Given the description of an element on the screen output the (x, y) to click on. 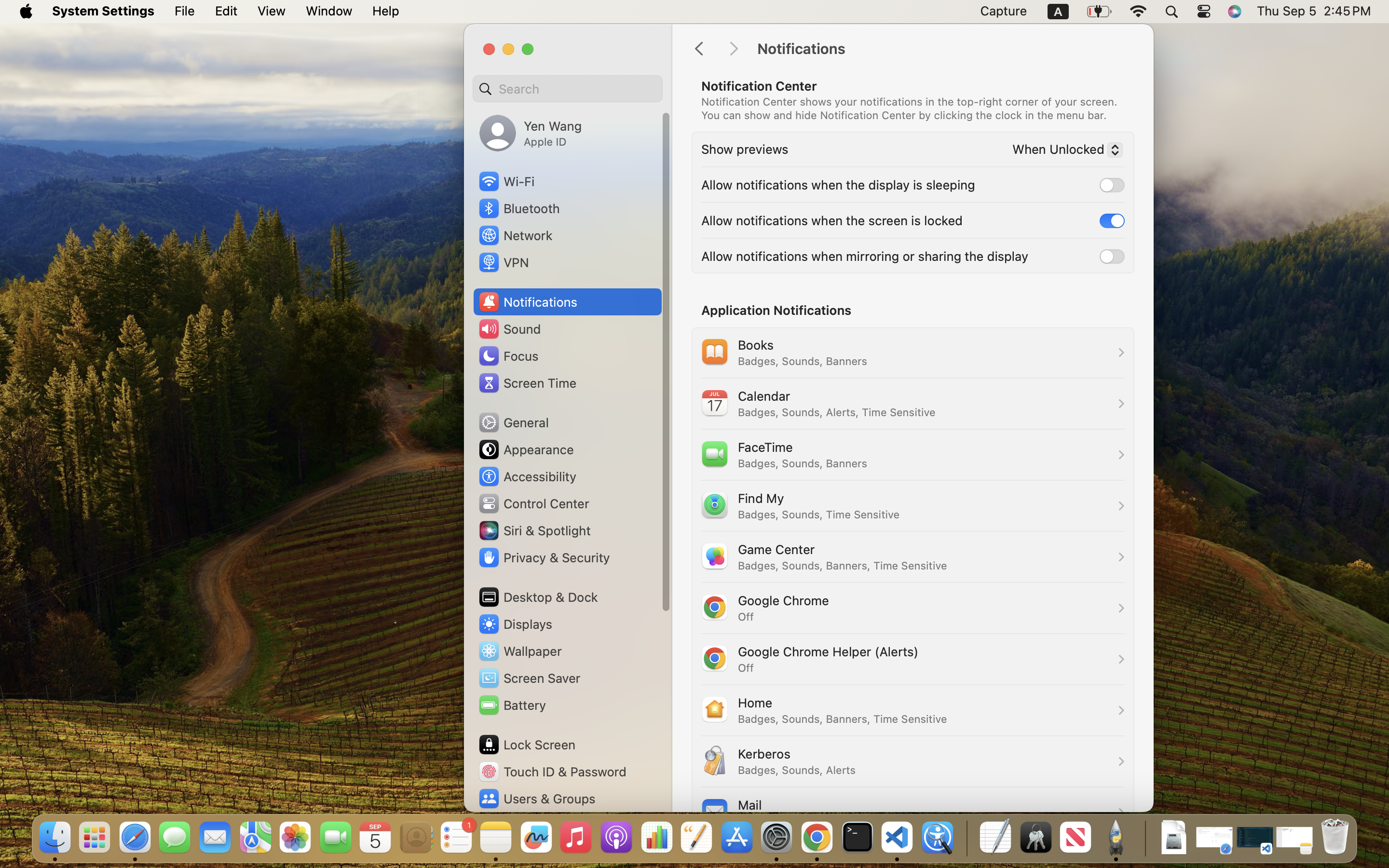
Users & Groups Element type: AXStaticText (536, 798)
Sound Element type: AXStaticText (509, 328)
Desktop & Dock Element type: AXStaticText (537, 596)
Lock Screen Element type: AXStaticText (526, 744)
Notifications Element type: AXStaticText (945, 49)
